Given the description of an element on the screen output the (x, y) to click on. 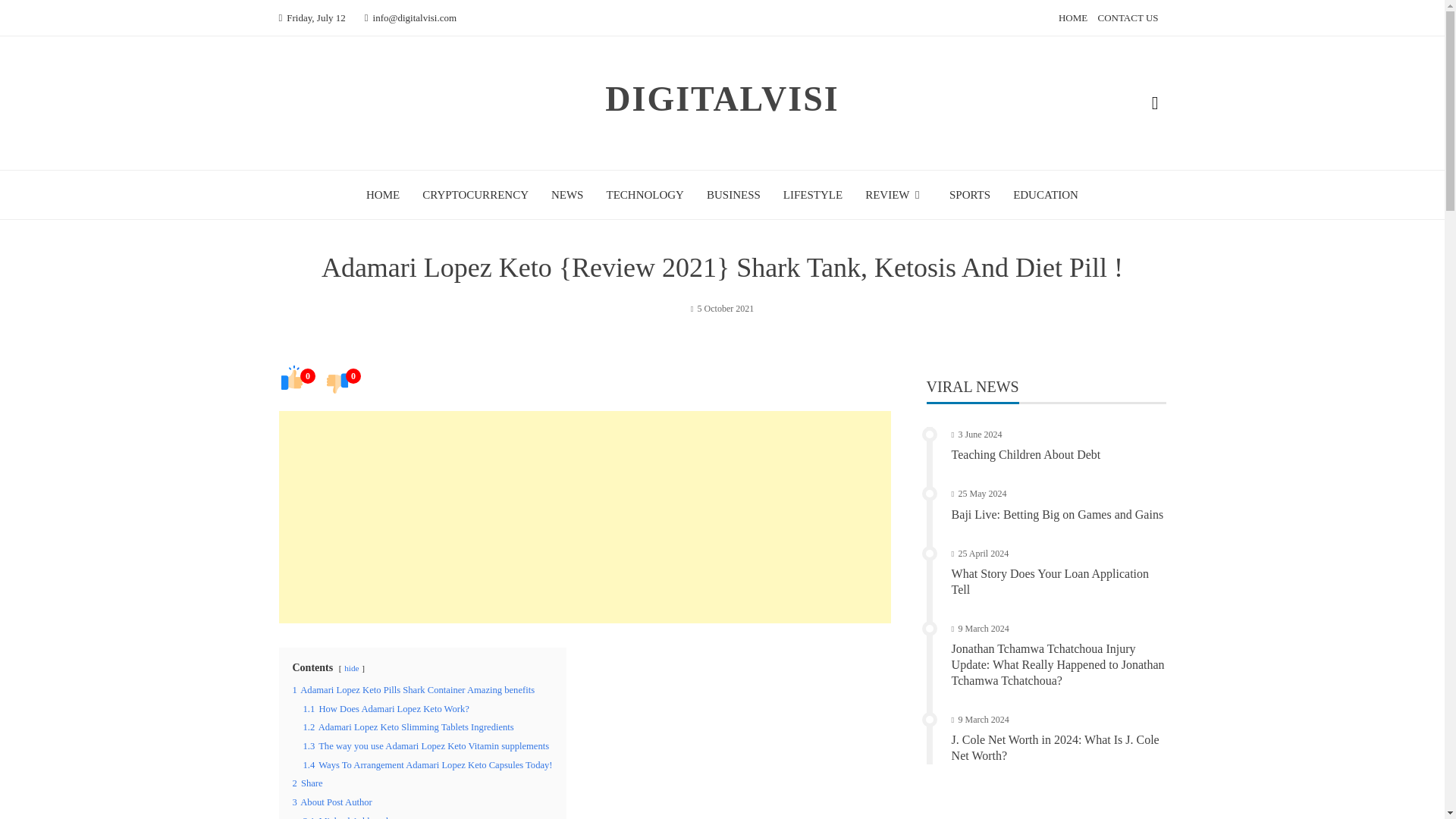
BUSINESS (733, 194)
1.1 How Does Adamari Lopez Keto Work? (385, 708)
HOME (1072, 17)
LIFESTYLE (813, 194)
CONTACT US (1127, 17)
1.4 Ways To Arrangement Adamari Lopez Keto Capsules Today! (427, 765)
2 Share (307, 783)
1.2 Adamari Lopez Keto Slimming Tablets Ingredients (407, 726)
EDUCATION (1045, 194)
SPORTS (969, 194)
hide (350, 667)
REVIEW (895, 194)
1.3 The way you use Adamari Lopez Keto Vitamin supplements (426, 746)
DIGITALVISI (721, 98)
TECHNOLOGY (644, 194)
